Given the description of an element on the screen output the (x, y) to click on. 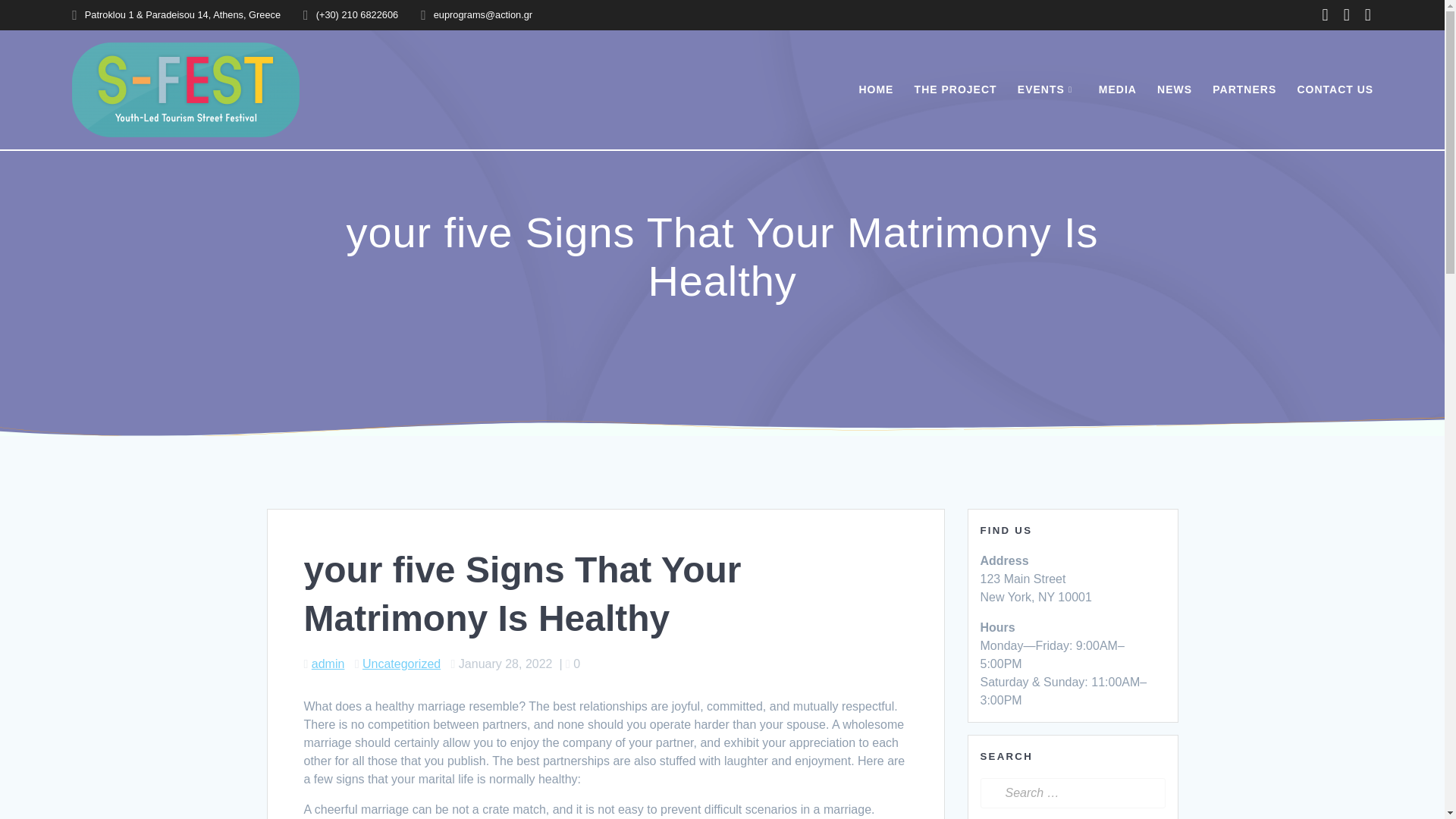
Uncategorized (401, 663)
Posts by admin (328, 663)
THE PROJECT (955, 89)
MEDIA (1118, 89)
CONTACT US (1335, 89)
NEWS (1174, 89)
admin (328, 663)
EVENTS (1047, 89)
PARTNERS (1244, 89)
HOME (876, 89)
